Given the description of an element on the screen output the (x, y) to click on. 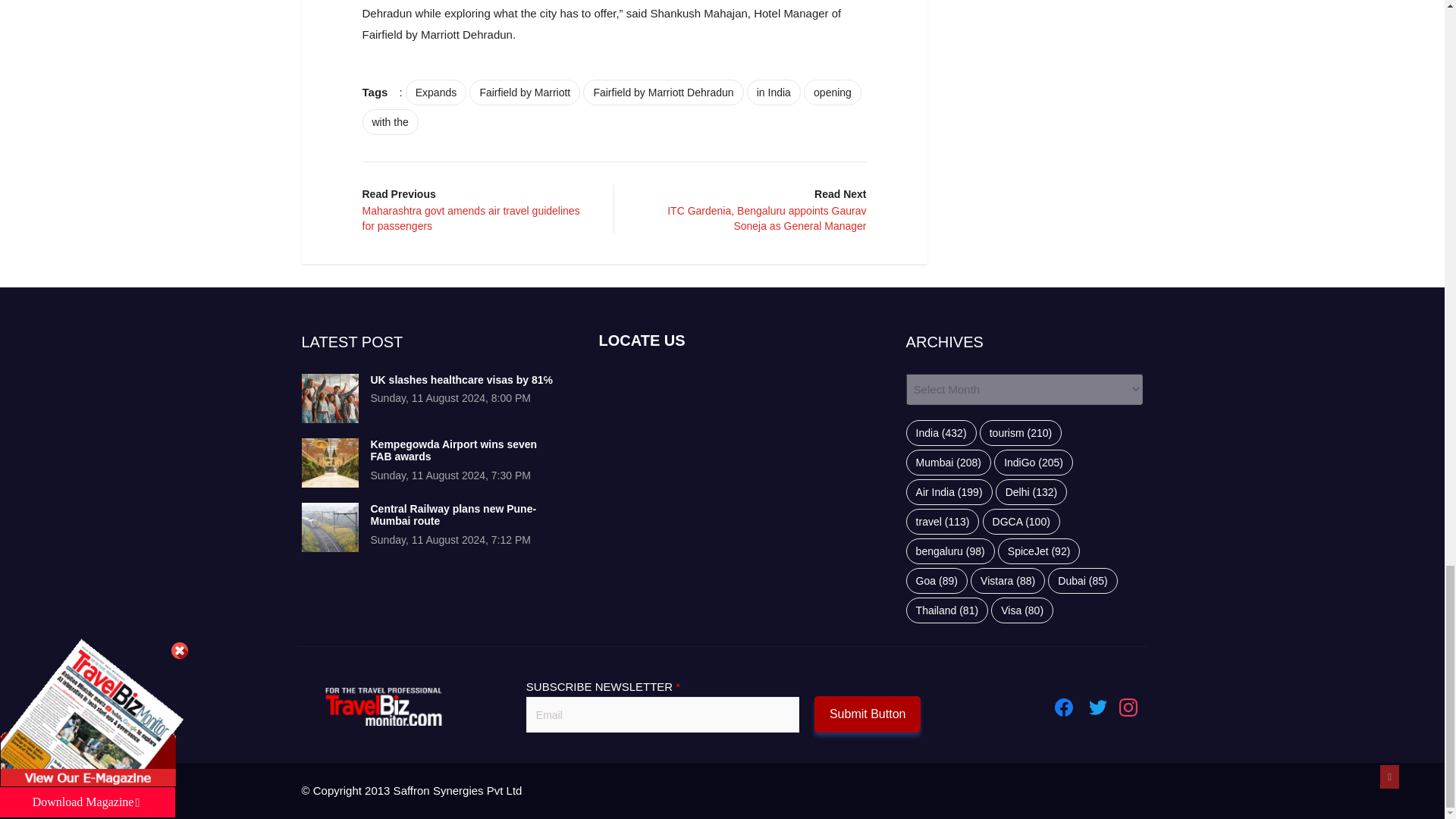
Facebook (1063, 707)
Central Railway plans new Pune-Mumbai route (452, 514)
Instagram (1128, 707)
Kempegowda Airport wins seven FAB awards (453, 450)
Twitter (1097, 707)
Kempegowda Airport wins seven FAB awards (329, 462)
Central Railway plans new Pune-Mumbai route (329, 527)
